Given the description of an element on the screen output the (x, y) to click on. 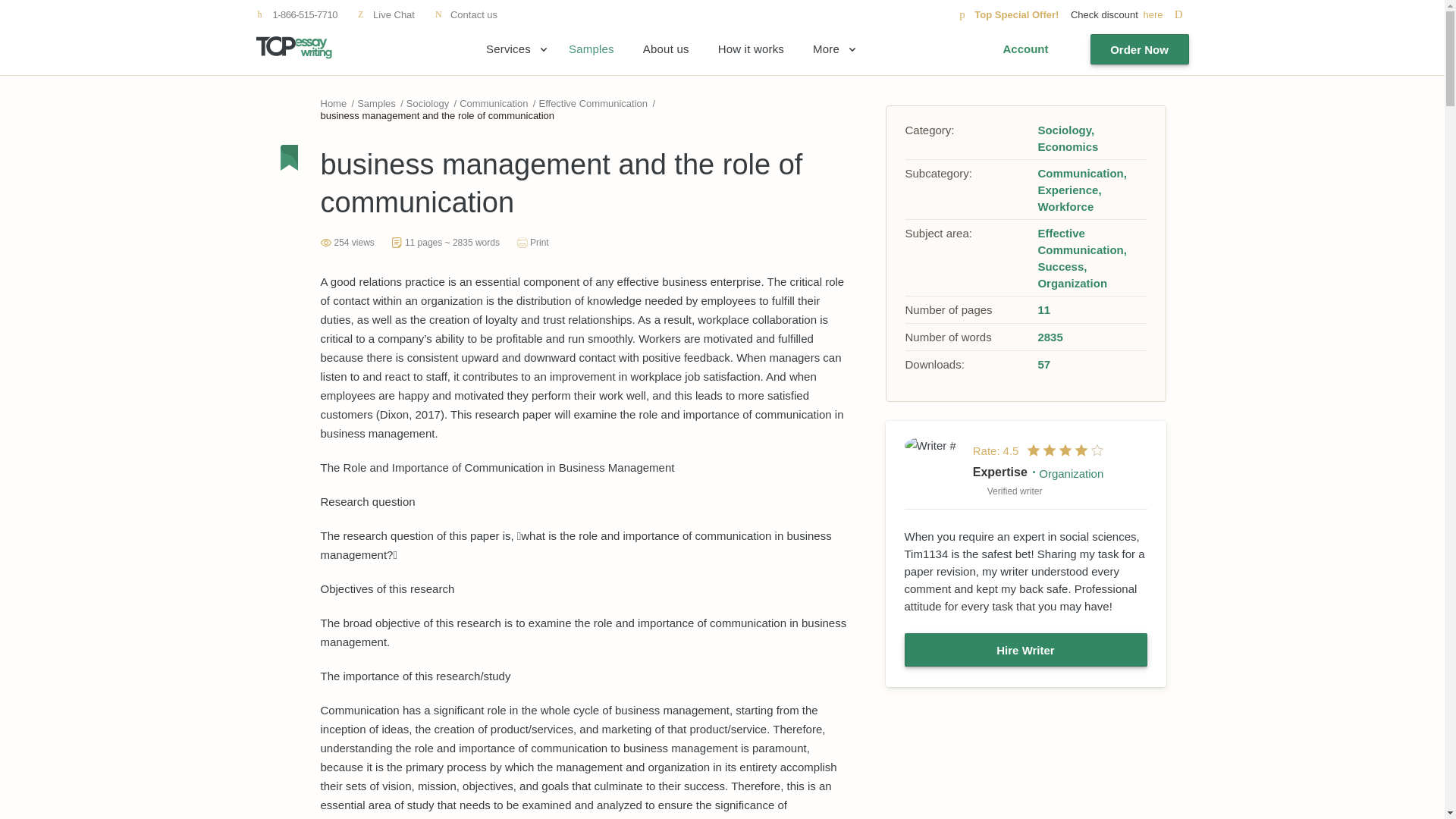
here (1165, 14)
1-866-515-7710 (296, 14)
How it works (750, 49)
Print (532, 242)
Communication (493, 102)
Sociology (1065, 130)
Contact us (465, 14)
Account (1025, 49)
Samples (376, 102)
Home (333, 102)
Samples (591, 49)
Sociology (427, 102)
Order Now (1139, 49)
About us (665, 49)
Effective Communication (592, 102)
